Given the description of an element on the screen output the (x, y) to click on. 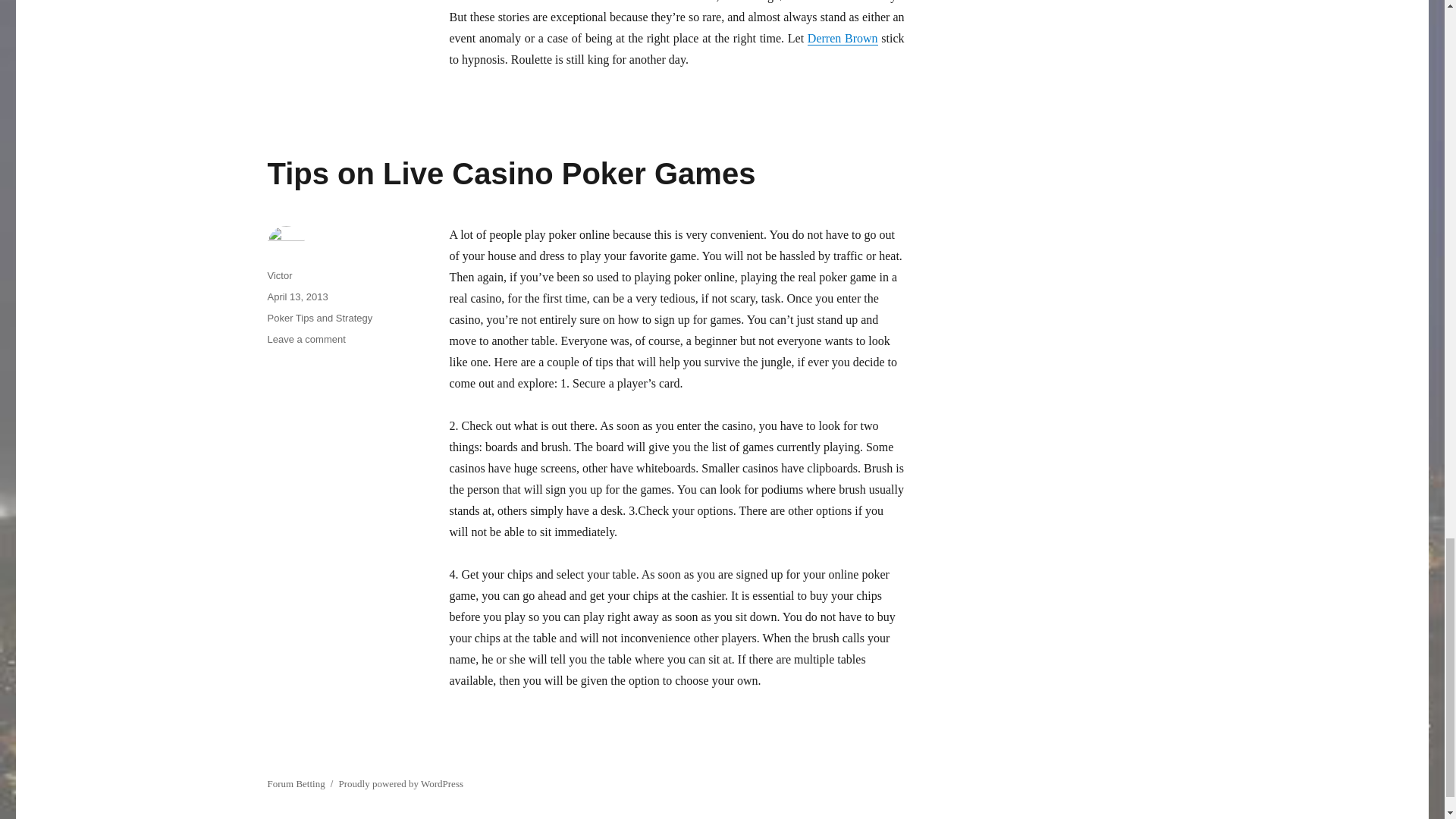
Tips on Live Casino Poker Games (510, 173)
April 13, 2013 (296, 296)
Proudly powered by WordPress (305, 338)
Forum Betting (401, 783)
Derren Brown (295, 783)
Poker Tips and Strategy (842, 38)
Victor (319, 317)
